Given the description of an element on the screen output the (x, y) to click on. 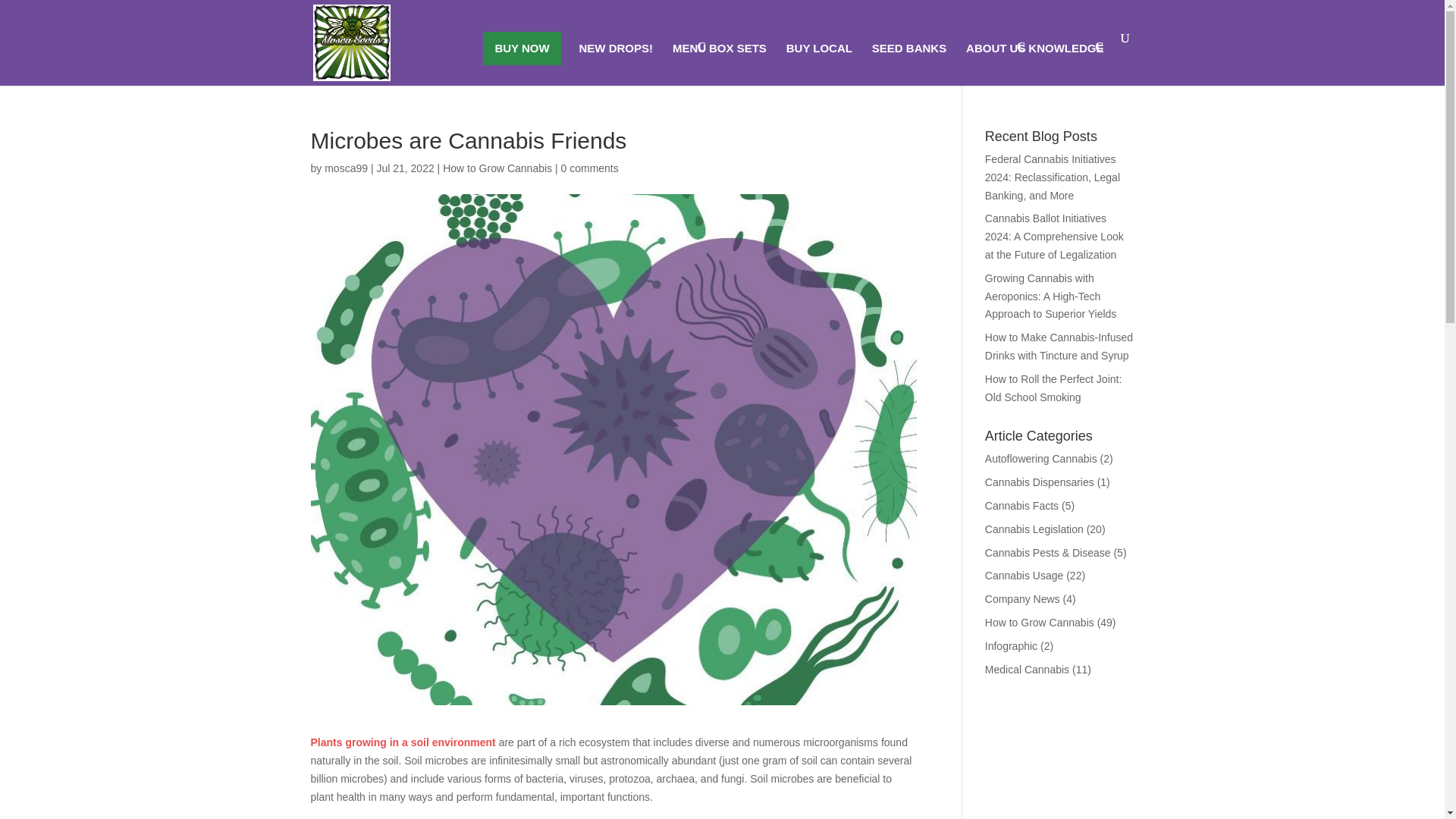
KNOWLEDGE (1065, 54)
Posts by mosca99 (346, 168)
NEW DROPS! (616, 64)
BUY NOW (521, 48)
ABOUT US (995, 54)
SEED BANKS (909, 64)
BUY LOCAL (818, 64)
MENU (689, 54)
BOX SETS (738, 64)
